Given the description of an element on the screen output the (x, y) to click on. 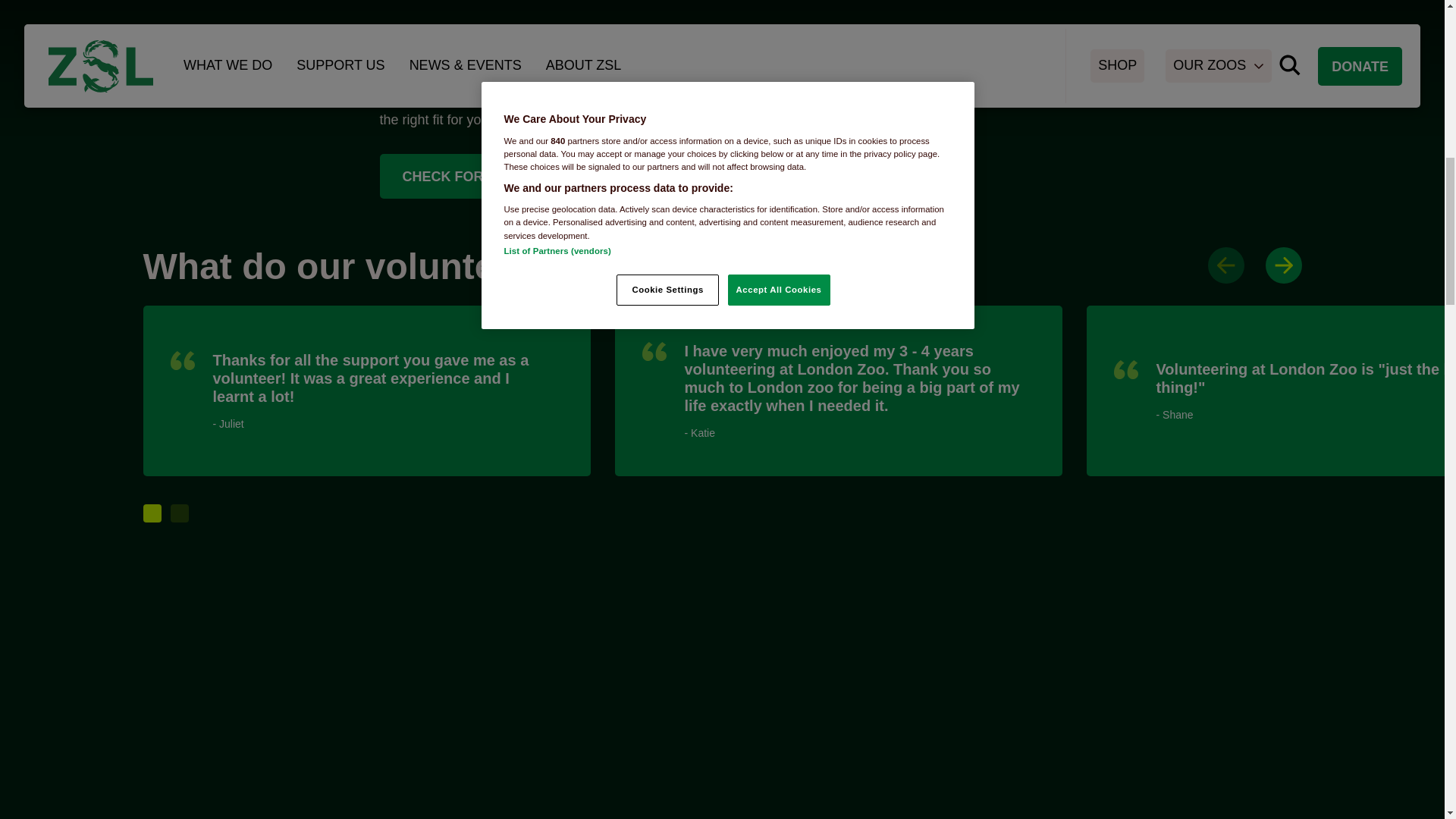
Volunteering opportunities (587, 99)
Volunteering opportunities (543, 176)
